Given the description of an element on the screen output the (x, y) to click on. 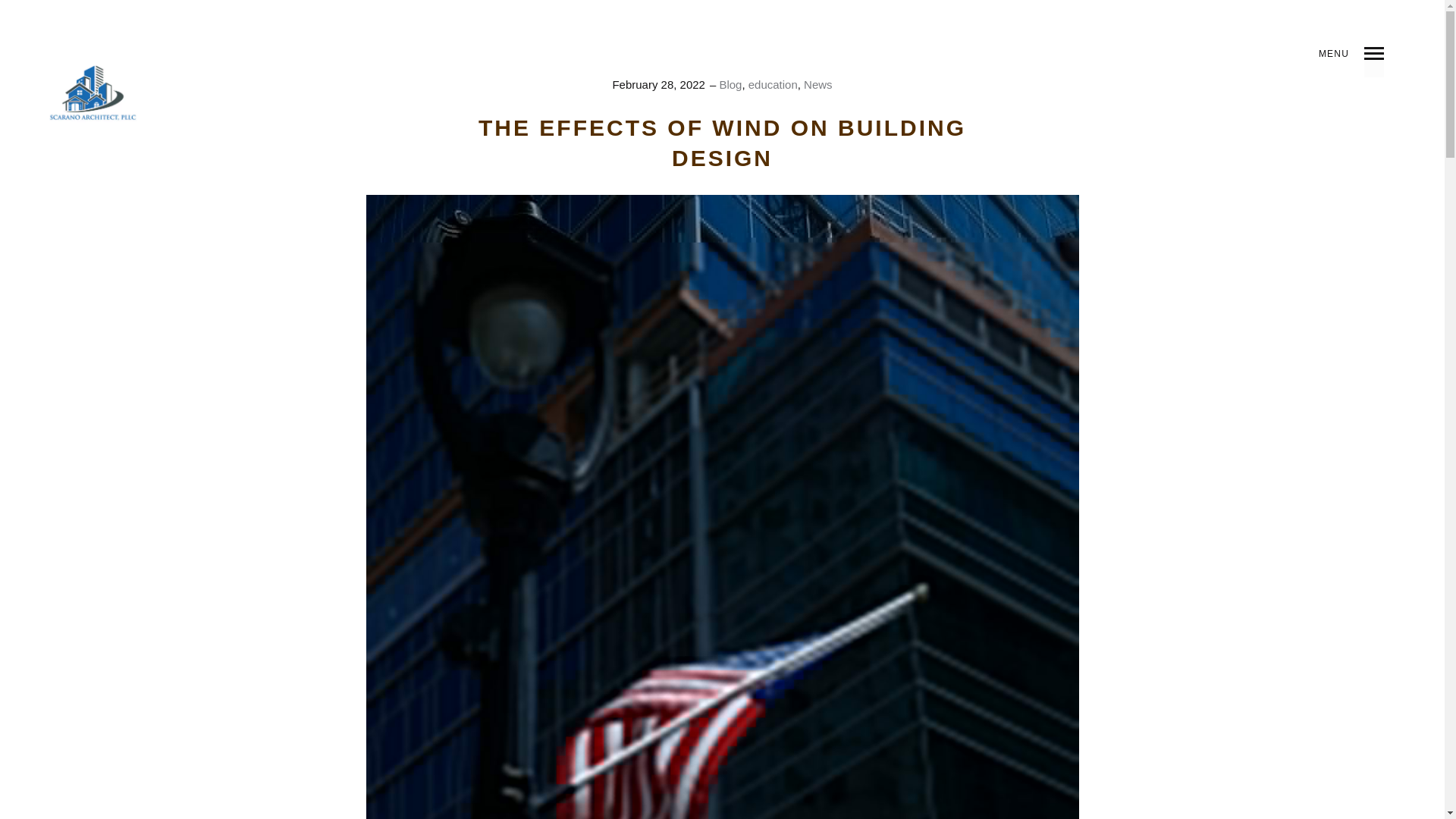
education (772, 83)
Blog (730, 83)
News (817, 83)
Scarano Architect (92, 92)
